Given the description of an element on the screen output the (x, y) to click on. 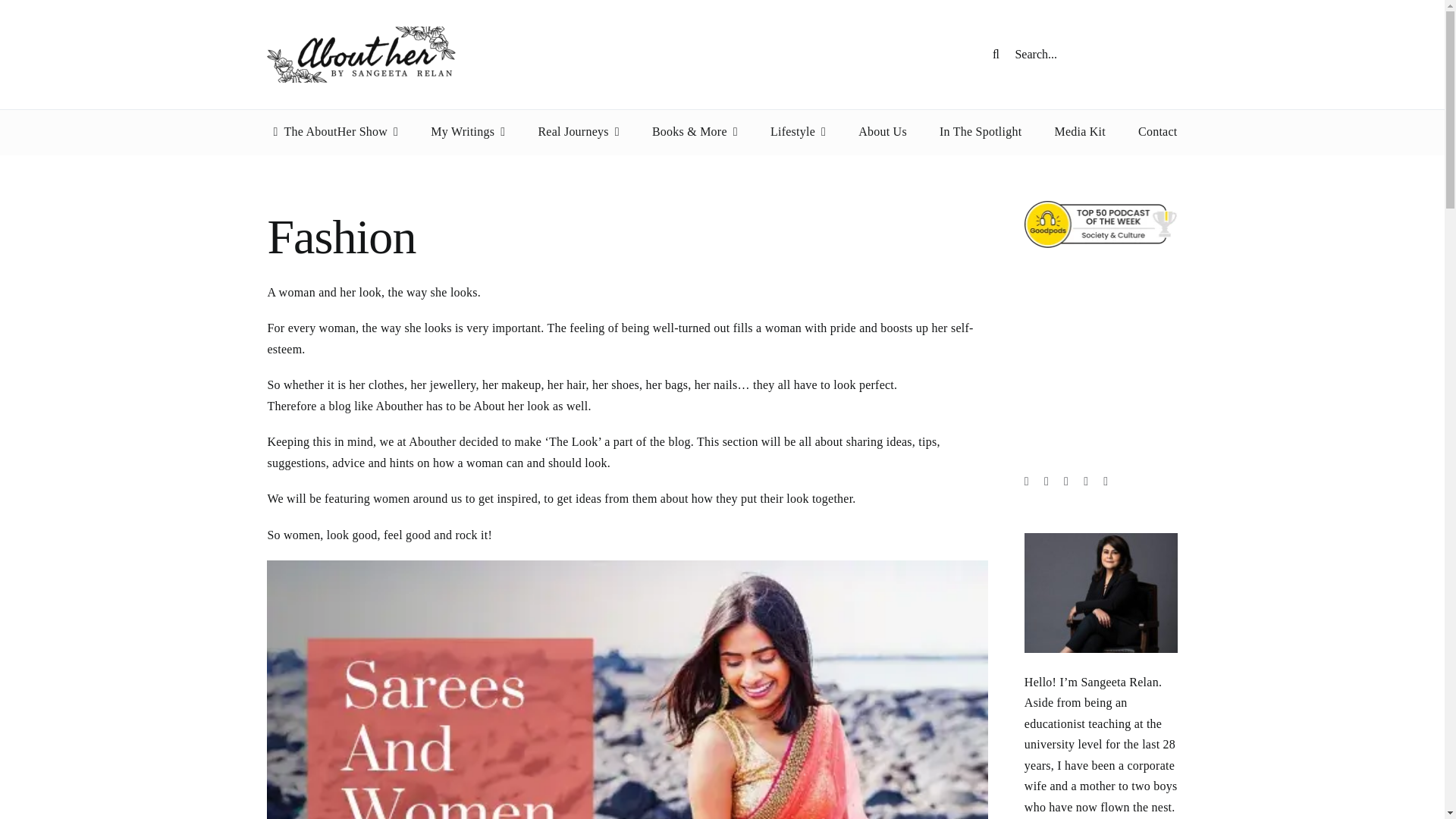
Real Journeys (577, 132)
The AboutHer Show (331, 132)
Lifestyle (797, 132)
My Writings (467, 132)
